Given the description of an element on the screen output the (x, y) to click on. 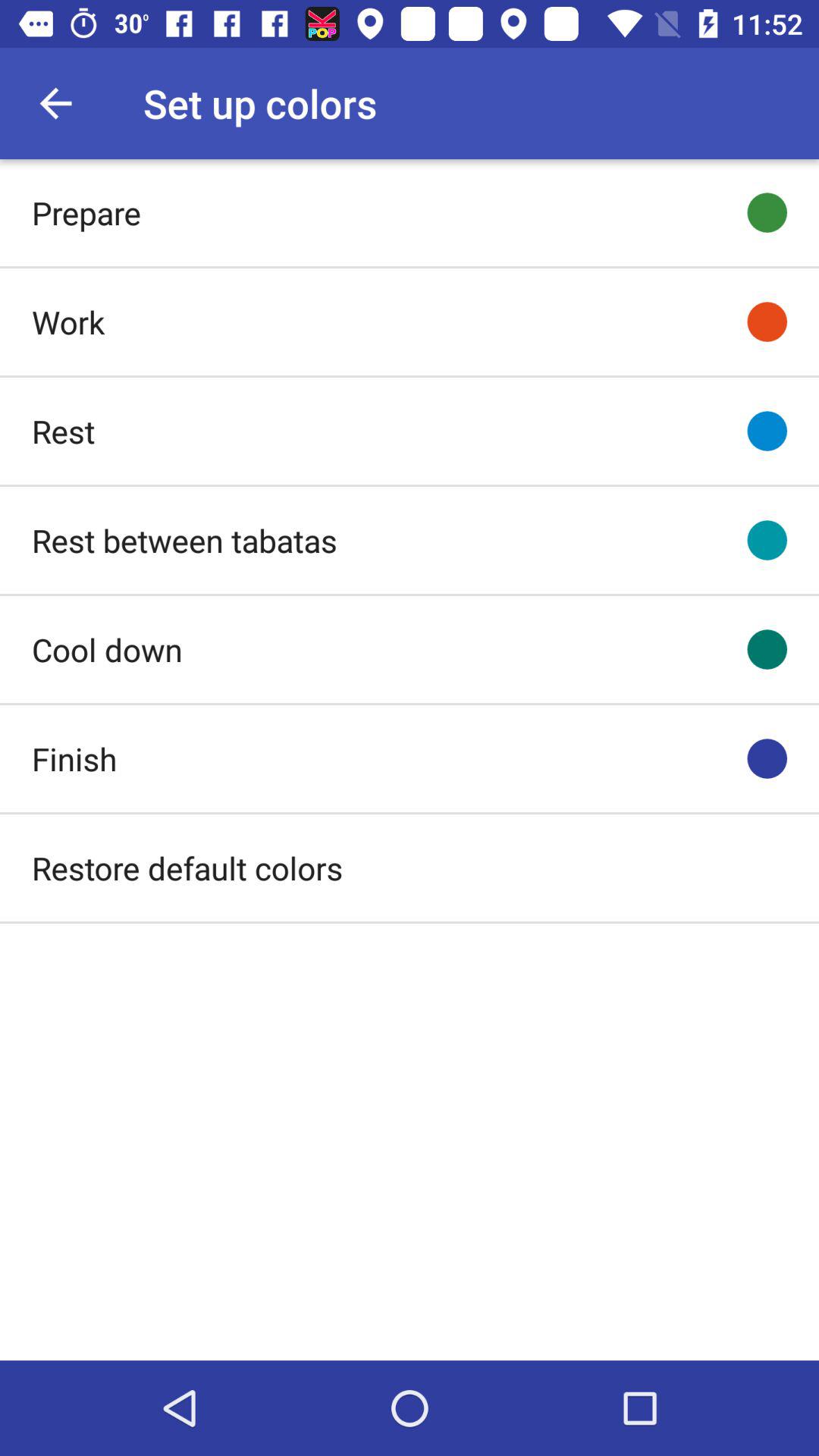
select item to the left of the set up colors icon (55, 103)
